Given the description of an element on the screen output the (x, y) to click on. 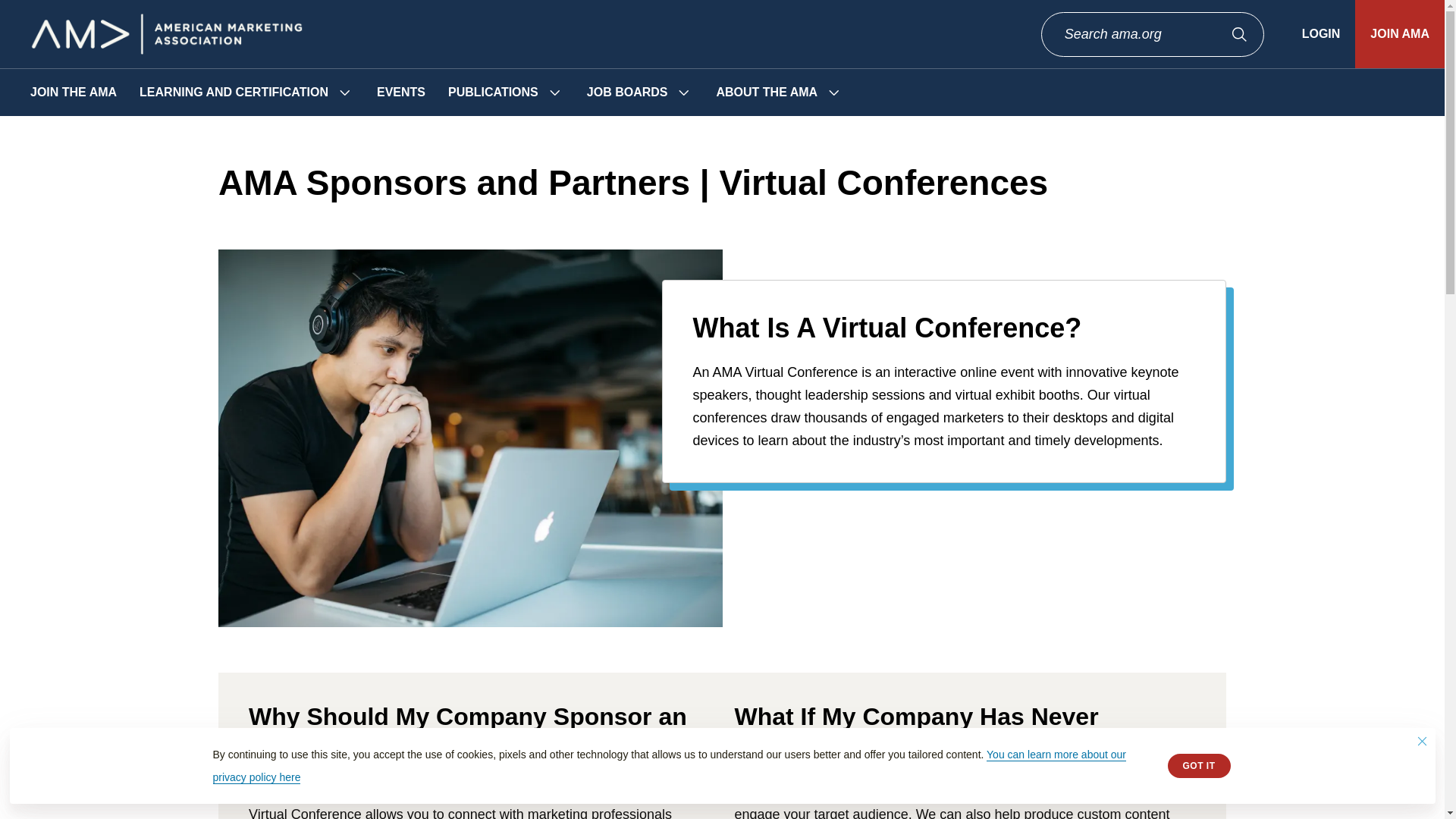
ABOUT THE AMA (766, 92)
PUBLICATIONS (493, 92)
JOIN THE AMA (73, 92)
EVENTS (401, 92)
JOB BOARDS (627, 92)
LOGIN (1321, 33)
LEARNING AND CERTIFICATION (234, 92)
